Given the description of an element on the screen output the (x, y) to click on. 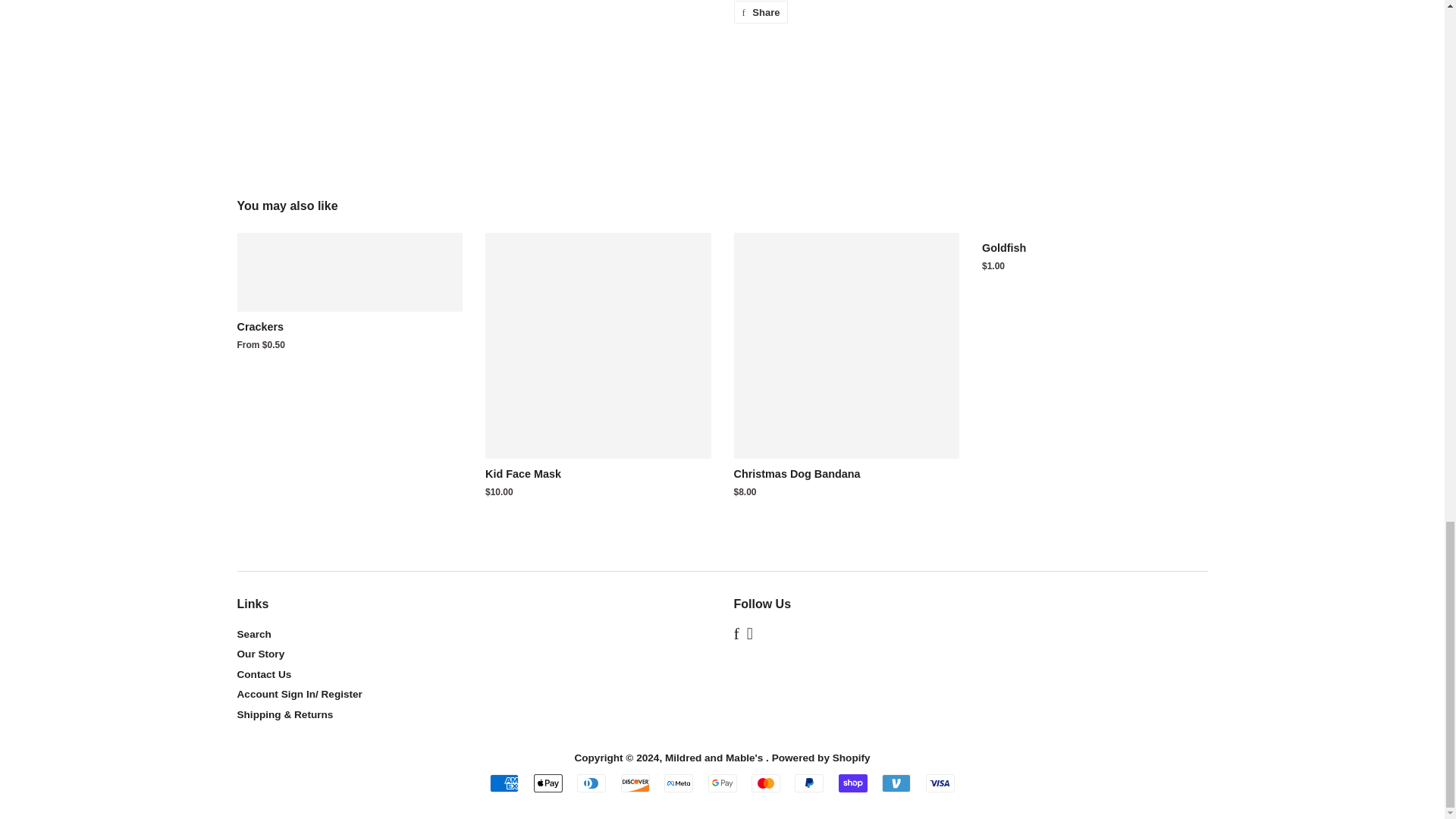
Visa (940, 782)
Mastercard (765, 782)
Apple Pay (548, 782)
Share on Facebook (761, 11)
Meta Pay (678, 782)
Diners Club (590, 782)
PayPal (809, 782)
Google Pay (721, 782)
American Express (503, 782)
Shop Pay (852, 782)
